Given the description of an element on the screen output the (x, y) to click on. 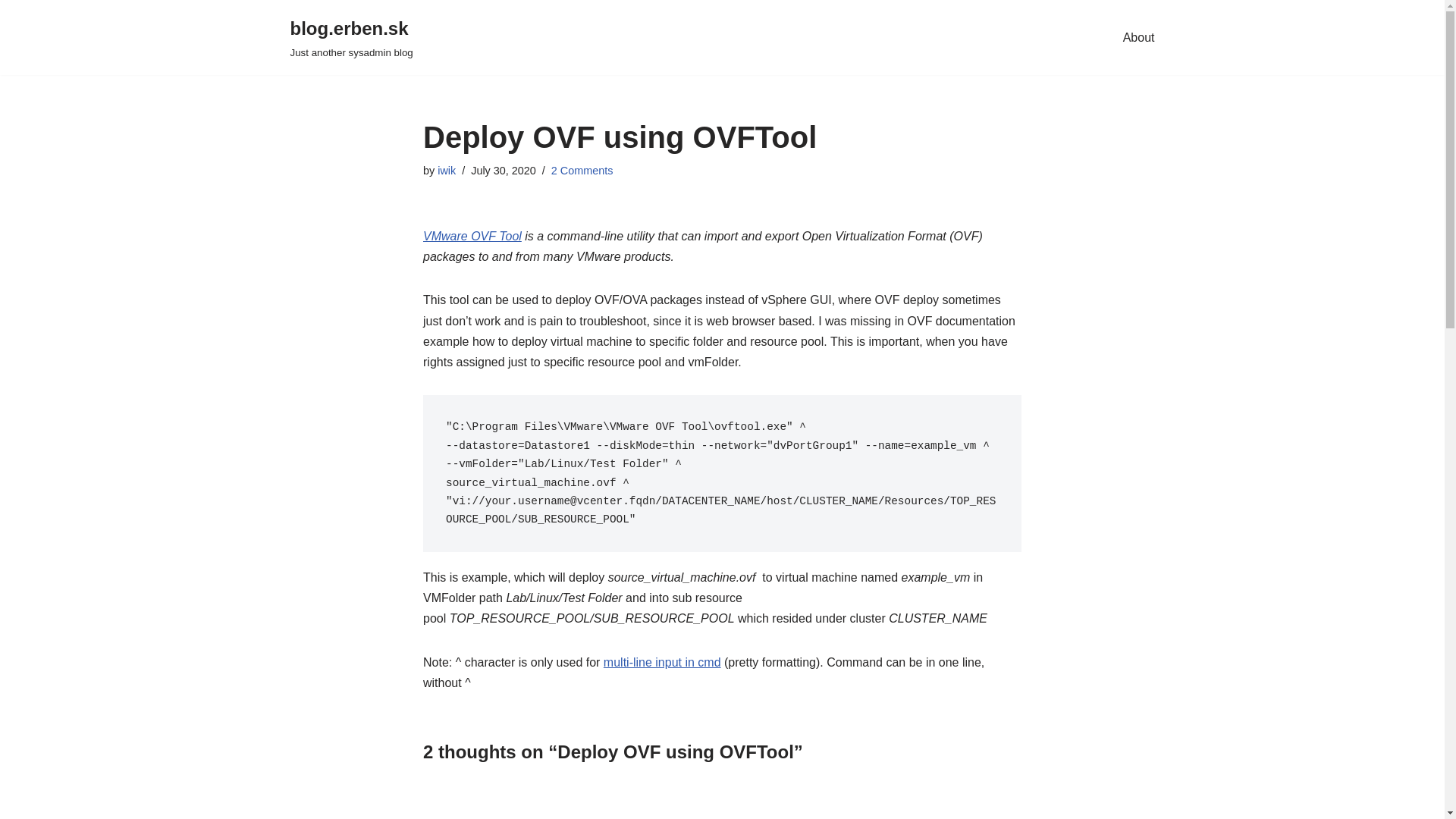
About (1138, 37)
Posts by iwik (446, 170)
blog.erben.sk (350, 37)
multi-line input in cmd (350, 37)
VMware OVF Tool (662, 662)
Skip to content (472, 236)
2 Comments (11, 31)
iwik (581, 170)
